Given the description of an element on the screen output the (x, y) to click on. 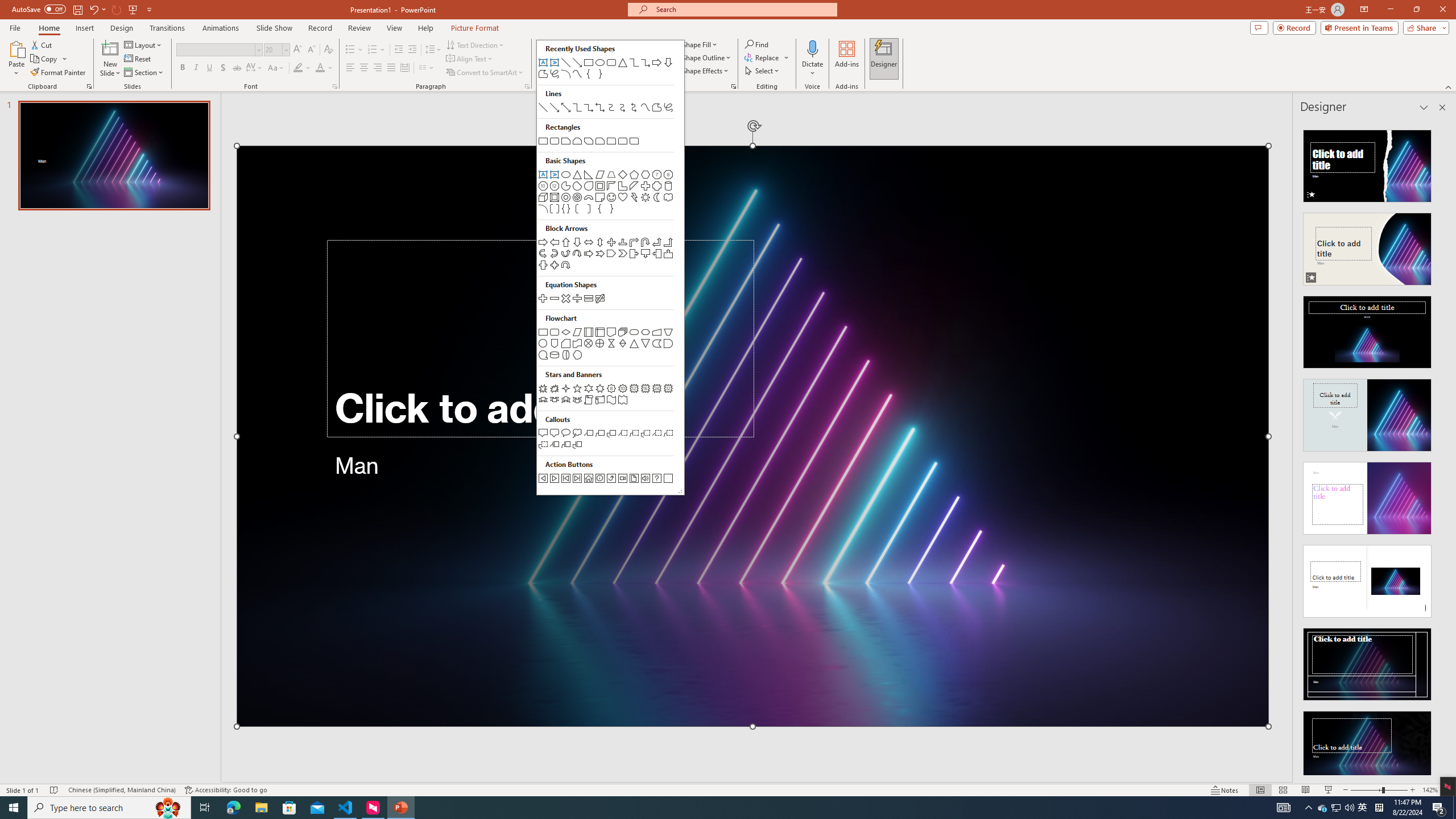
Running applications (700, 807)
Quick Access Toolbar (82, 9)
Record (1294, 27)
File Explorer (261, 807)
Convert to SmartArt (485, 72)
Class: Net UI Tool Window (609, 267)
File Tab (15, 27)
Home (48, 28)
Close (1442, 9)
Show desktop (1454, 807)
Search highlights icon opens search home window (167, 807)
Customize Quick Access Toolbar (149, 9)
More Options (812, 68)
Office Clipboard... (88, 85)
Zoom 142% (1430, 790)
